Given the description of an element on the screen output the (x, y) to click on. 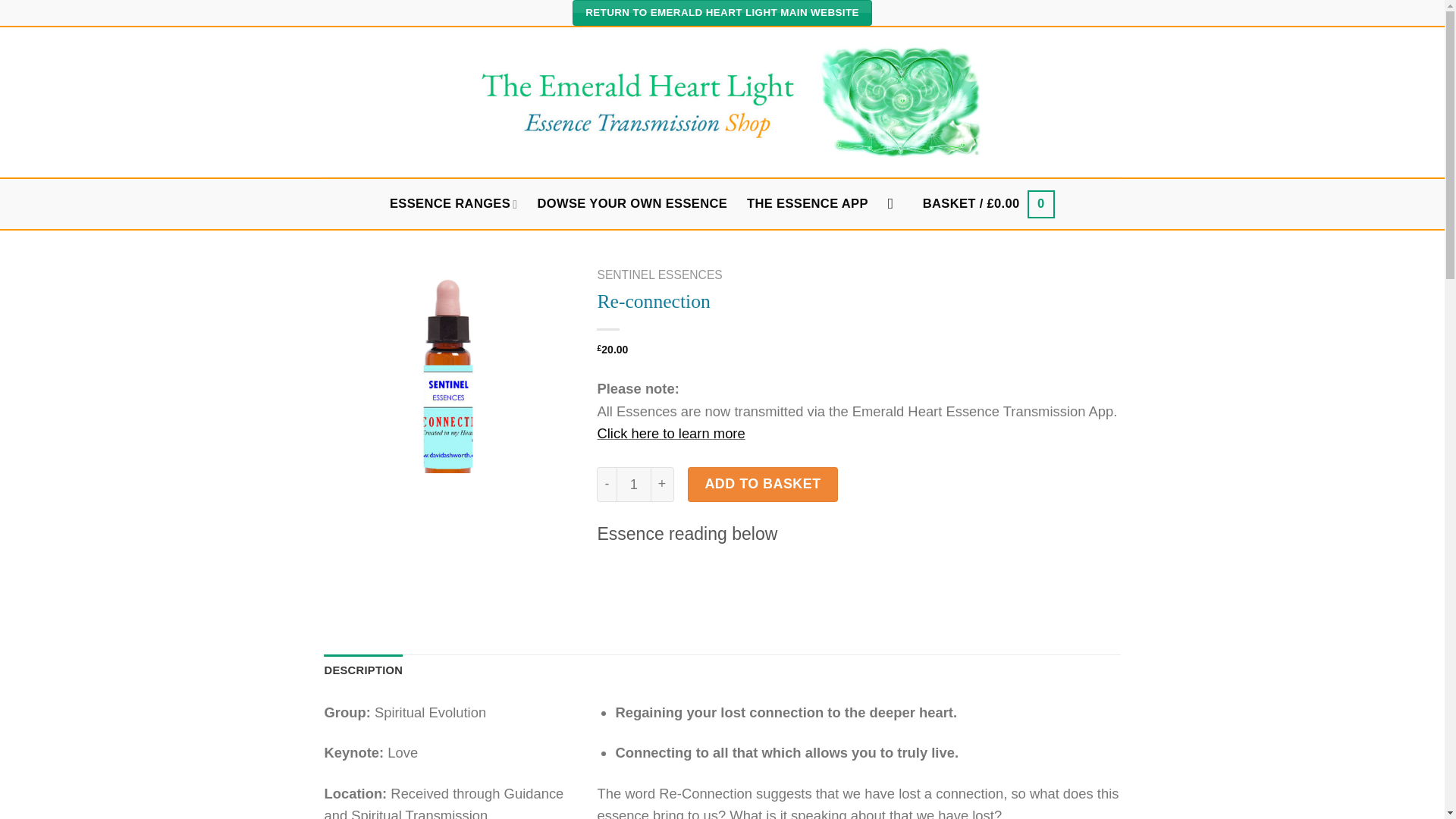
Click here to learn more (670, 433)
ADD TO BASKET (762, 484)
DOWSE YOUR OWN ESSENCE (631, 203)
THE ESSENCE APP (806, 203)
DESCRIPTION (363, 670)
1 (632, 484)
Basket (988, 204)
SENTINEL ESSENCES (659, 274)
RETURN TO EMERALD HEART LIGHT MAIN WEBSITE (722, 12)
ESSENCE RANGES (453, 204)
